Given the description of an element on the screen output the (x, y) to click on. 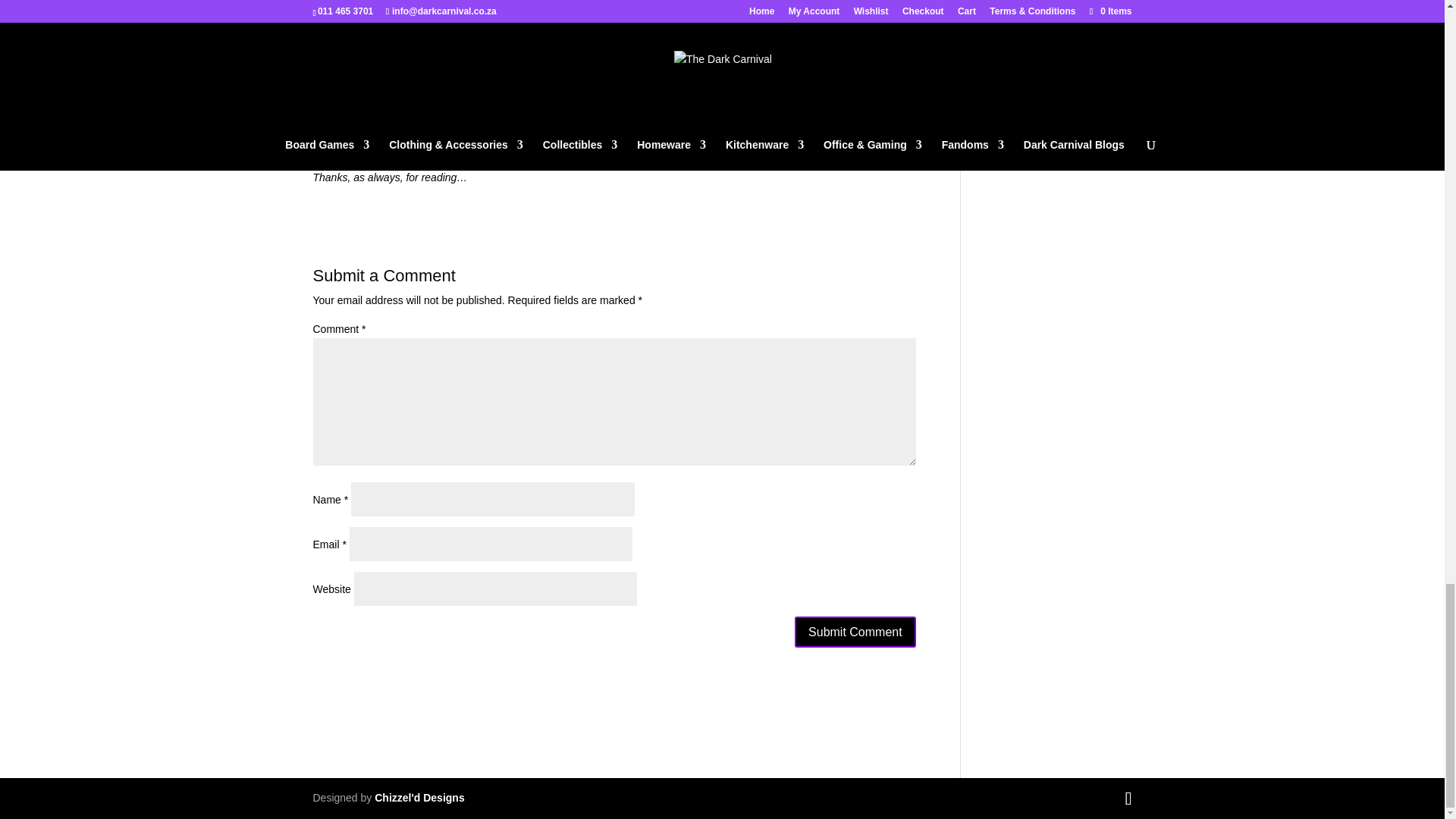
Submit Comment (854, 631)
